Given the description of an element on the screen output the (x, y) to click on. 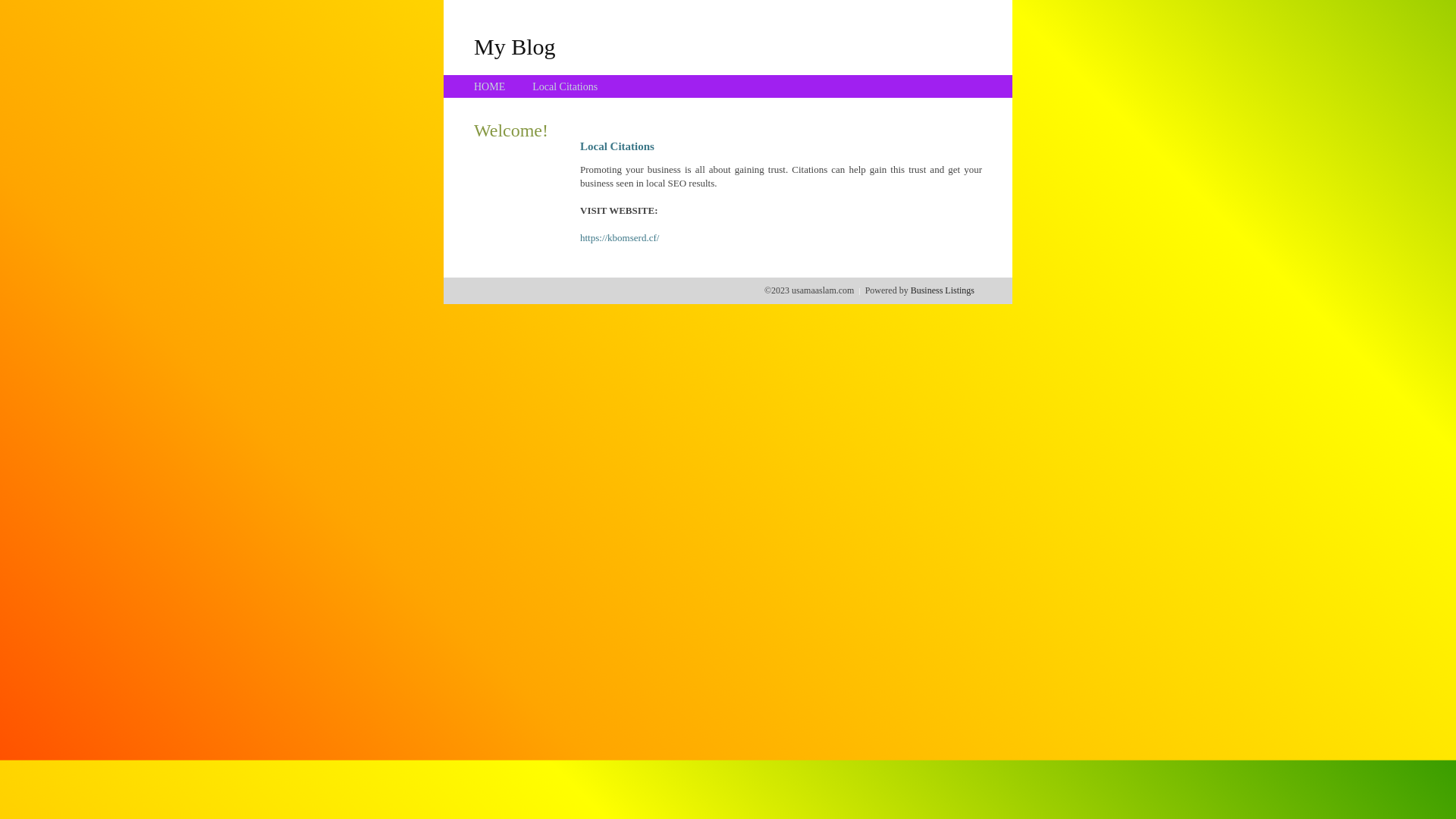
HOME Element type: text (489, 86)
Local Citations Element type: text (564, 86)
Business Listings Element type: text (942, 290)
My Blog Element type: text (514, 46)
https://kbomserd.cf/ Element type: text (619, 237)
